Given the description of an element on the screen output the (x, y) to click on. 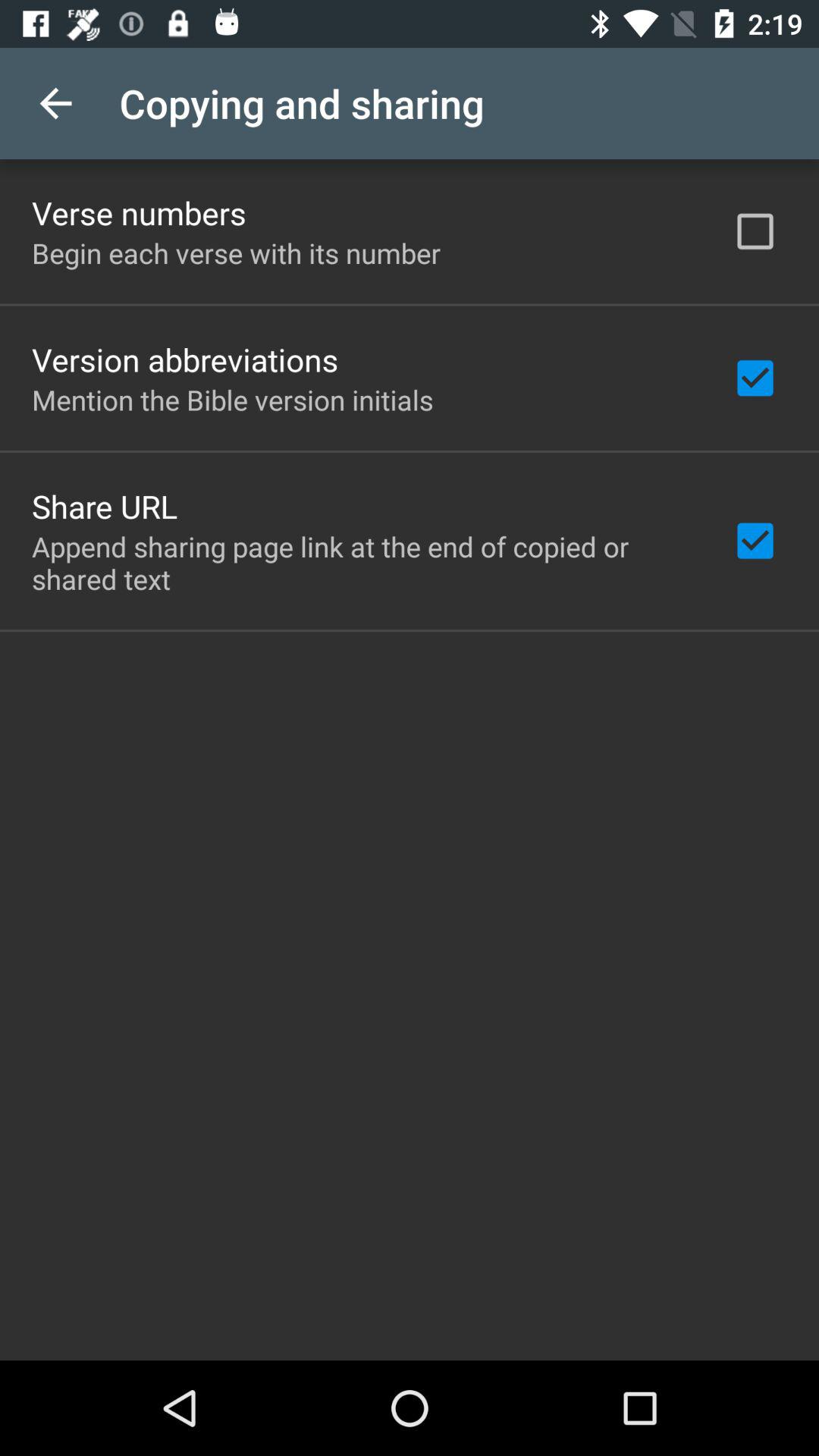
scroll until the share url icon (104, 505)
